Given the description of an element on the screen output the (x, y) to click on. 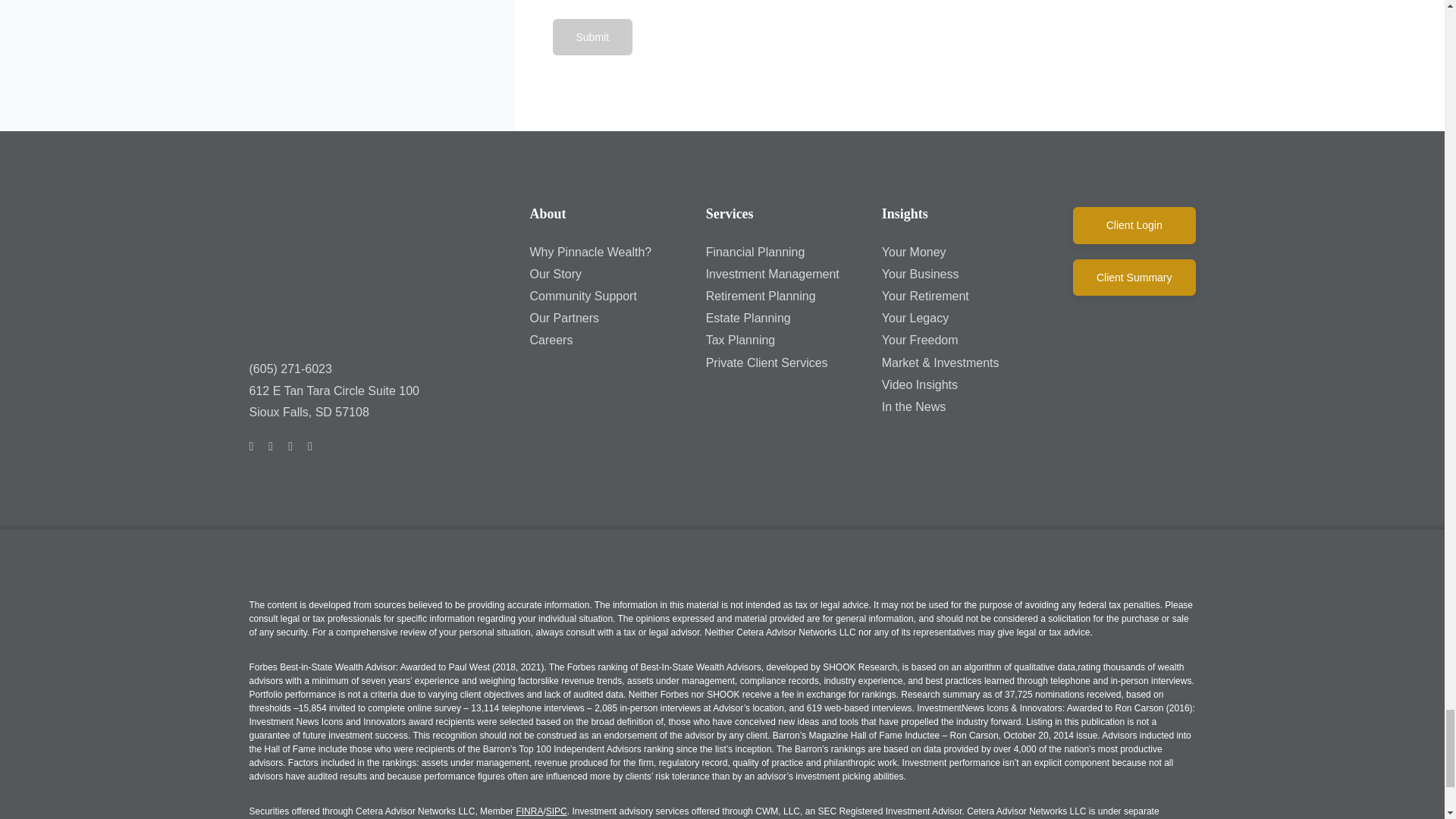
Submit (591, 36)
